Given the description of an element on the screen output the (x, y) to click on. 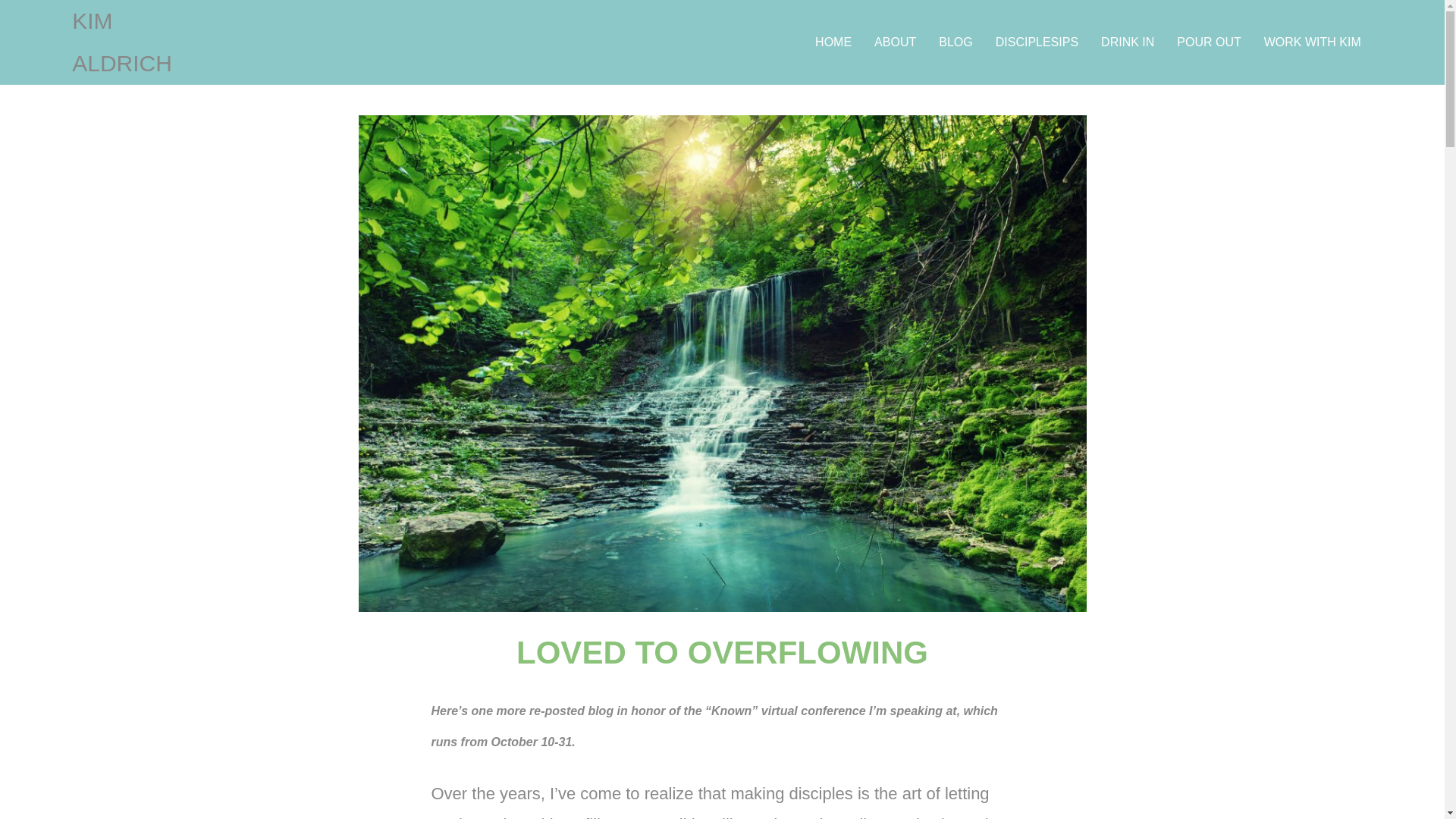
POUR OUT (1209, 42)
BLOG (955, 42)
HOME (833, 42)
DISCIPLESIPS (1036, 42)
DRINK IN (1127, 42)
ABOUT (895, 42)
KIM ALDRICH (141, 42)
WORK WITH KIM (1312, 42)
